Given the description of an element on the screen output the (x, y) to click on. 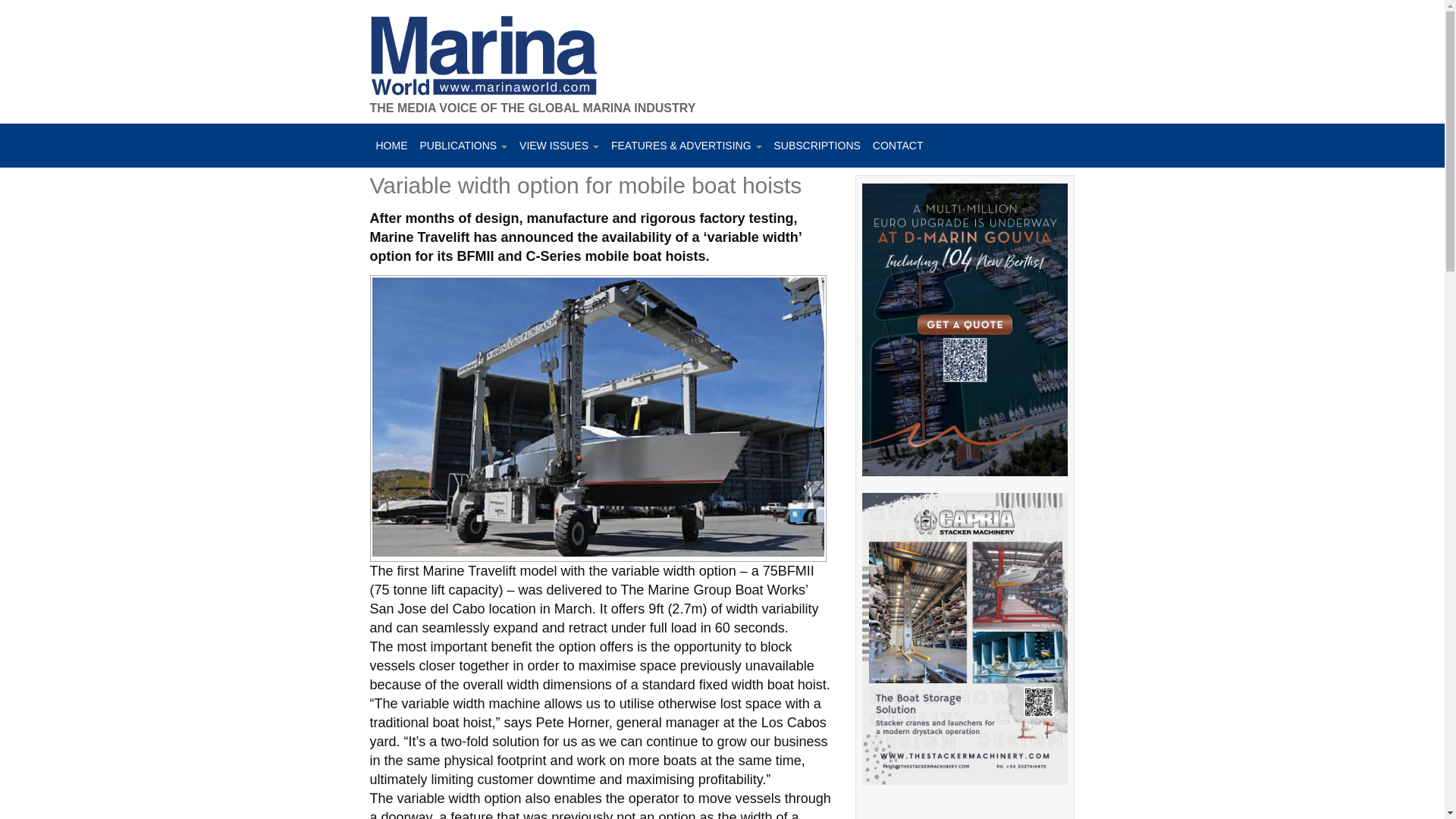
SUBSCRIPTIONS (816, 145)
CONTACT (898, 145)
HOME (391, 145)
www.domingocapria.com (964, 645)
VIEW ISSUES  (559, 145)
PUBLICATIONS  (463, 145)
